Given the description of an element on the screen output the (x, y) to click on. 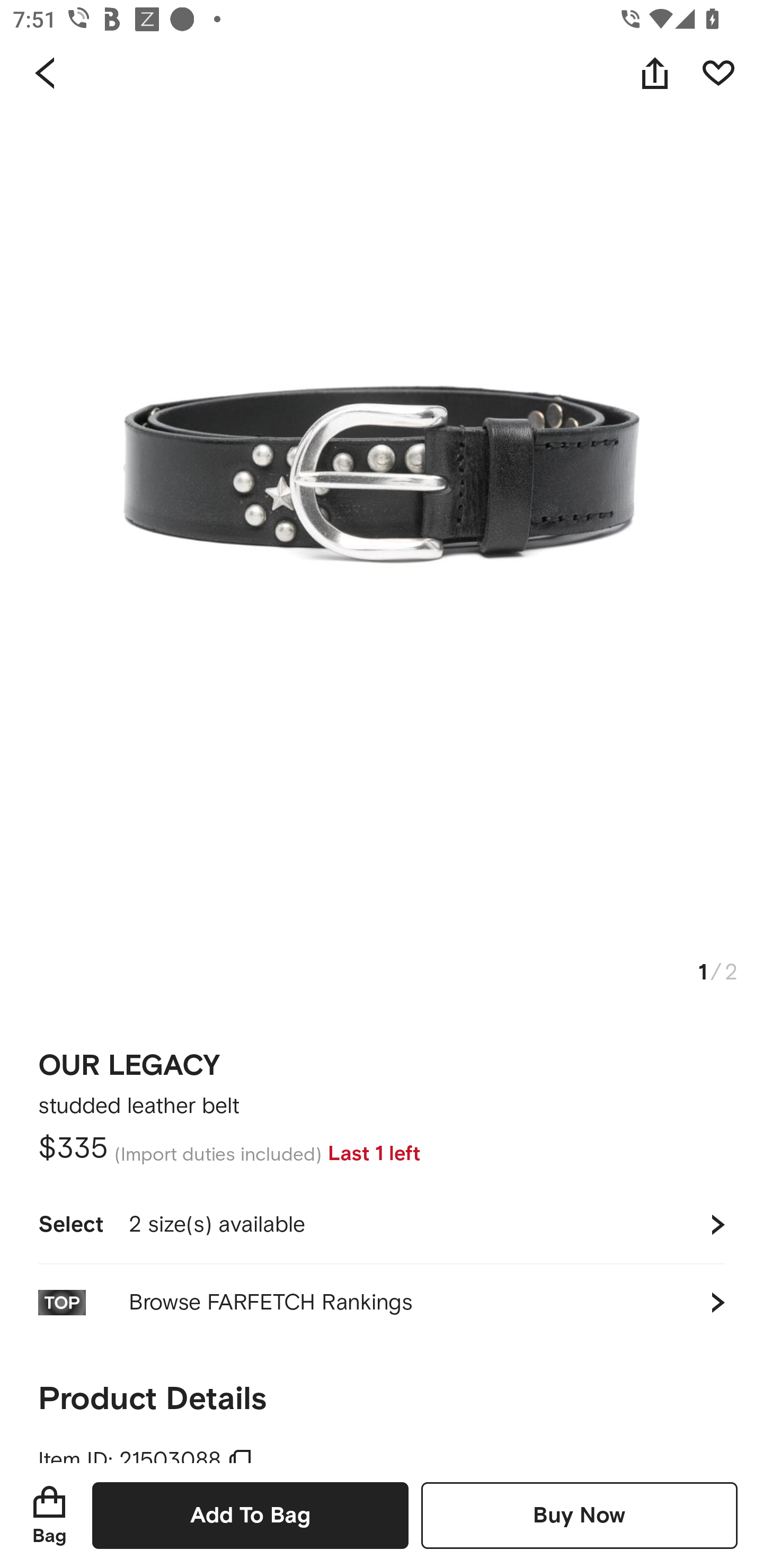
OUR LEGACY (129, 1059)
Select 2 size(s) available (381, 1224)
Browse FARFETCH Rankings (381, 1301)
Bag (49, 1515)
Add To Bag (250, 1515)
Buy Now (579, 1515)
